Given the description of an element on the screen output the (x, y) to click on. 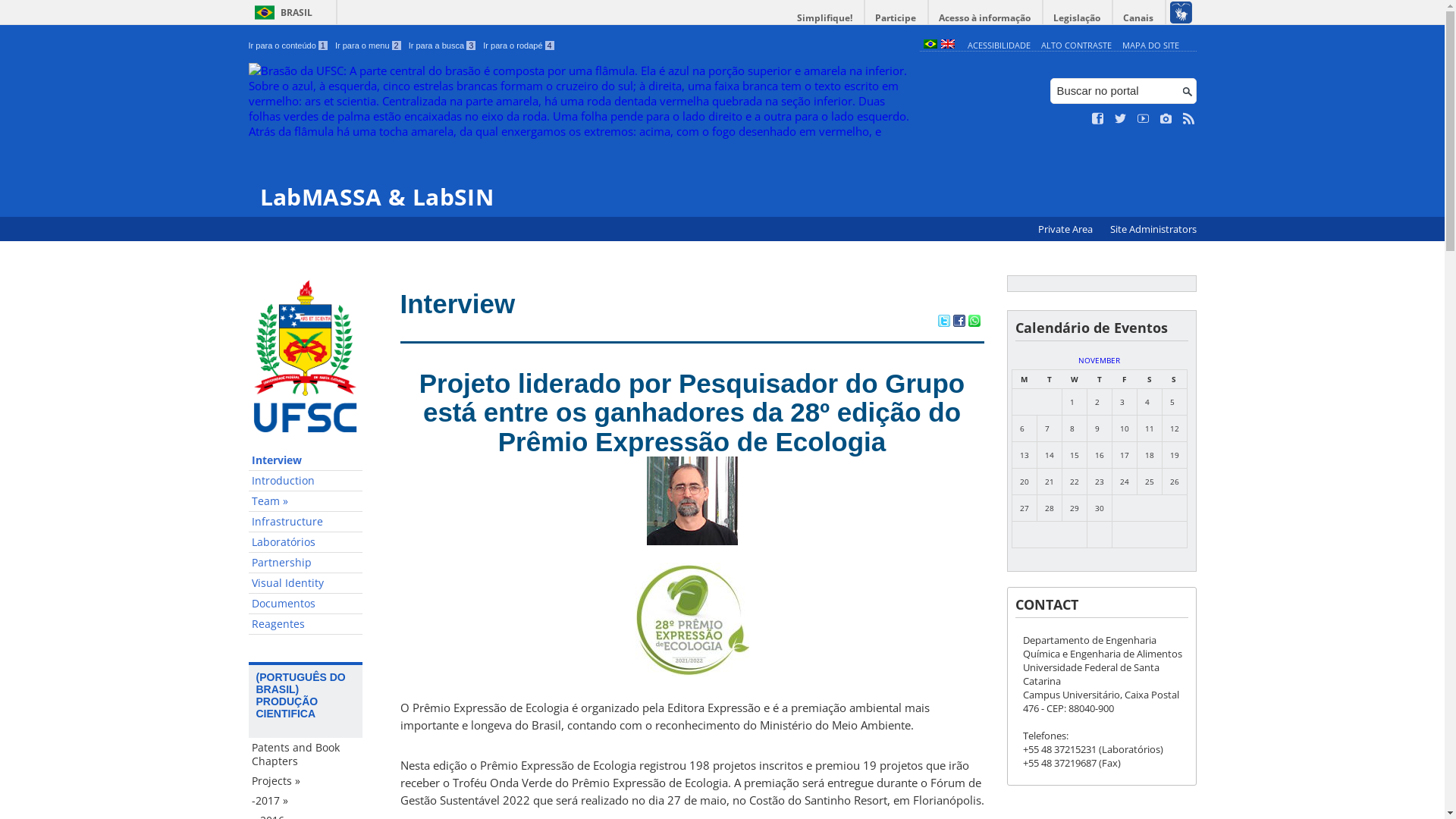
Veja no Instagram Element type: hover (1166, 118)
Compartilhar no Twitter Element type: hover (943, 321)
LabMASSA & LabSIN Element type: text (580, 135)
Canais Element type: text (1138, 18)
Ir para o menu 2 Element type: text (368, 45)
Participe Element type: text (895, 18)
Introduction Element type: text (305, 480)
ACESSIBILIDADE Element type: text (998, 44)
Site Administrators Element type: text (1153, 228)
Ir para a busca 3 Element type: text (442, 45)
BRASIL Element type: text (280, 12)
Interview Element type: text (457, 303)
Documentos Element type: text (305, 603)
Curta no Facebook Element type: hover (1098, 118)
Patents and Book Chapters Element type: text (305, 754)
Visual Identity Element type: text (305, 583)
MAPA DO SITE Element type: text (1150, 44)
Reagentes Element type: text (305, 624)
Siga no Twitter Element type: hover (1120, 118)
Compartilhar no Facebook Element type: hover (958, 321)
Compartilhar no WhatsApp Element type: hover (973, 321)
NOVEMBER Element type: text (1099, 359)
Partnership Element type: text (305, 562)
Interview Element type: text (305, 460)
Infrastructure Element type: text (305, 521)
English (en) Element type: hover (946, 44)
Private Area Element type: text (1065, 228)
Simplifique! Element type: text (825, 18)
ALTO CONTRASTE Element type: text (1076, 44)
